Given the description of an element on the screen output the (x, y) to click on. 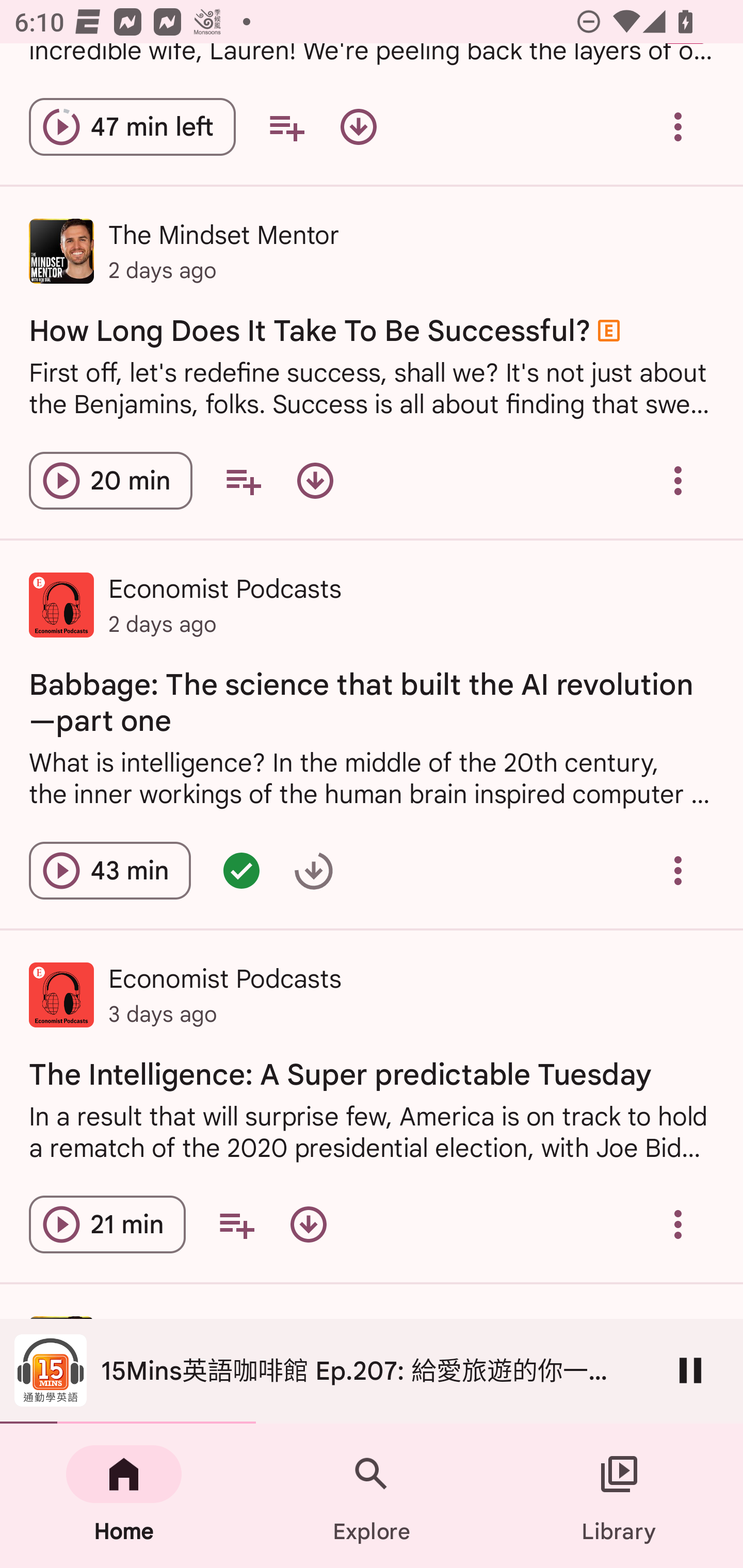
Play episode Meet My Wife 47 min left (131, 126)
Add to your queue (286, 126)
Download episode (358, 126)
Overflow menu (677, 126)
Add to your queue (242, 480)
Download episode (315, 480)
Overflow menu (677, 480)
Episode queued - double tap for options (241, 870)
Queued to download - double tap for options (313, 870)
Overflow menu (677, 870)
Add to your queue (235, 1224)
Download episode (308, 1224)
Overflow menu (677, 1224)
Pause (690, 1370)
Explore (371, 1495)
Library (619, 1495)
